Given the description of an element on the screen output the (x, y) to click on. 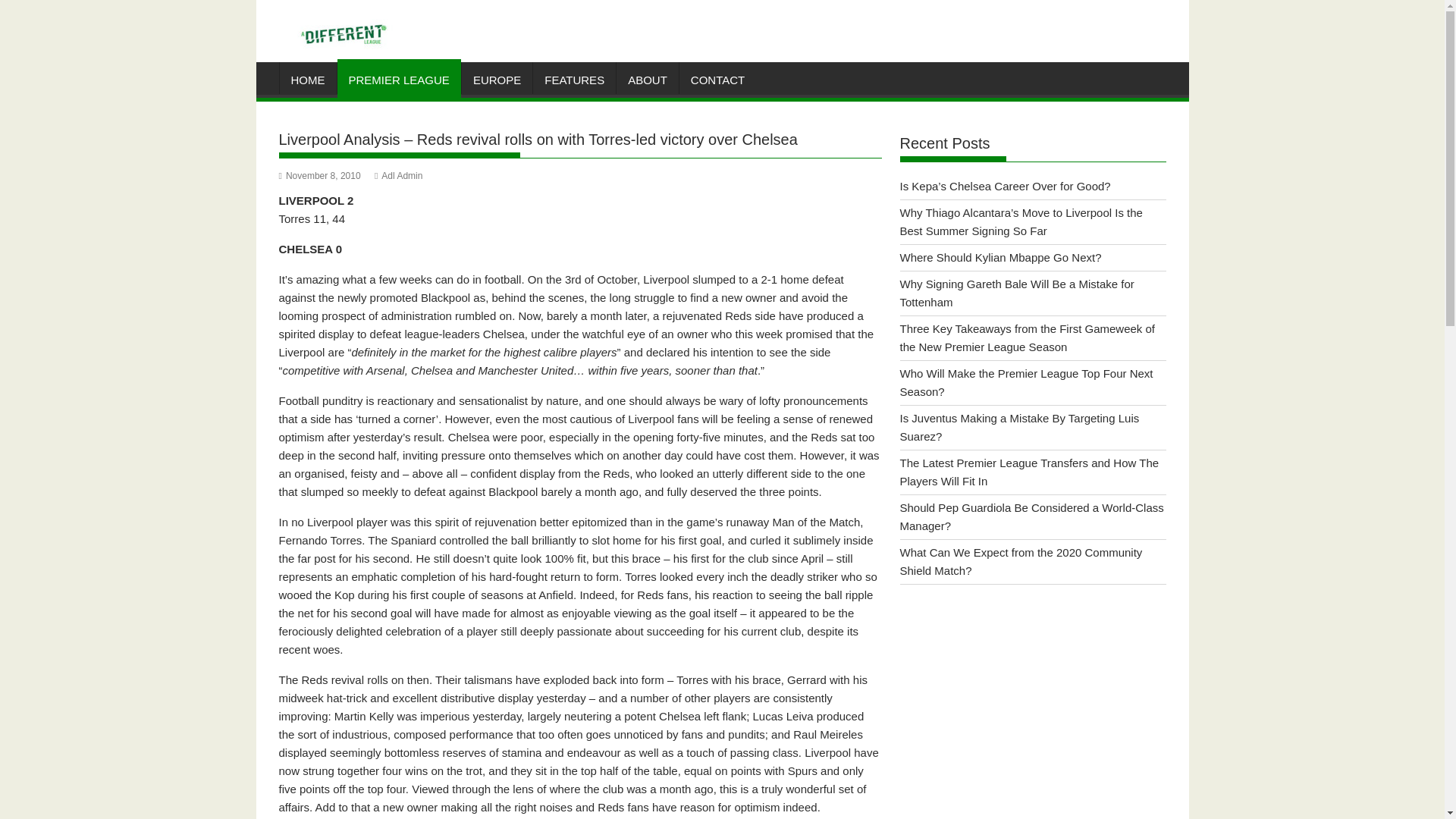
EUROPE (496, 80)
ABOUT (646, 80)
Adl Admin (398, 175)
FEATURES (573, 80)
HOME (307, 80)
CONTACT (717, 80)
PREMIER LEAGUE (398, 80)
November 8, 2010 (320, 175)
